Given the description of an element on the screen output the (x, y) to click on. 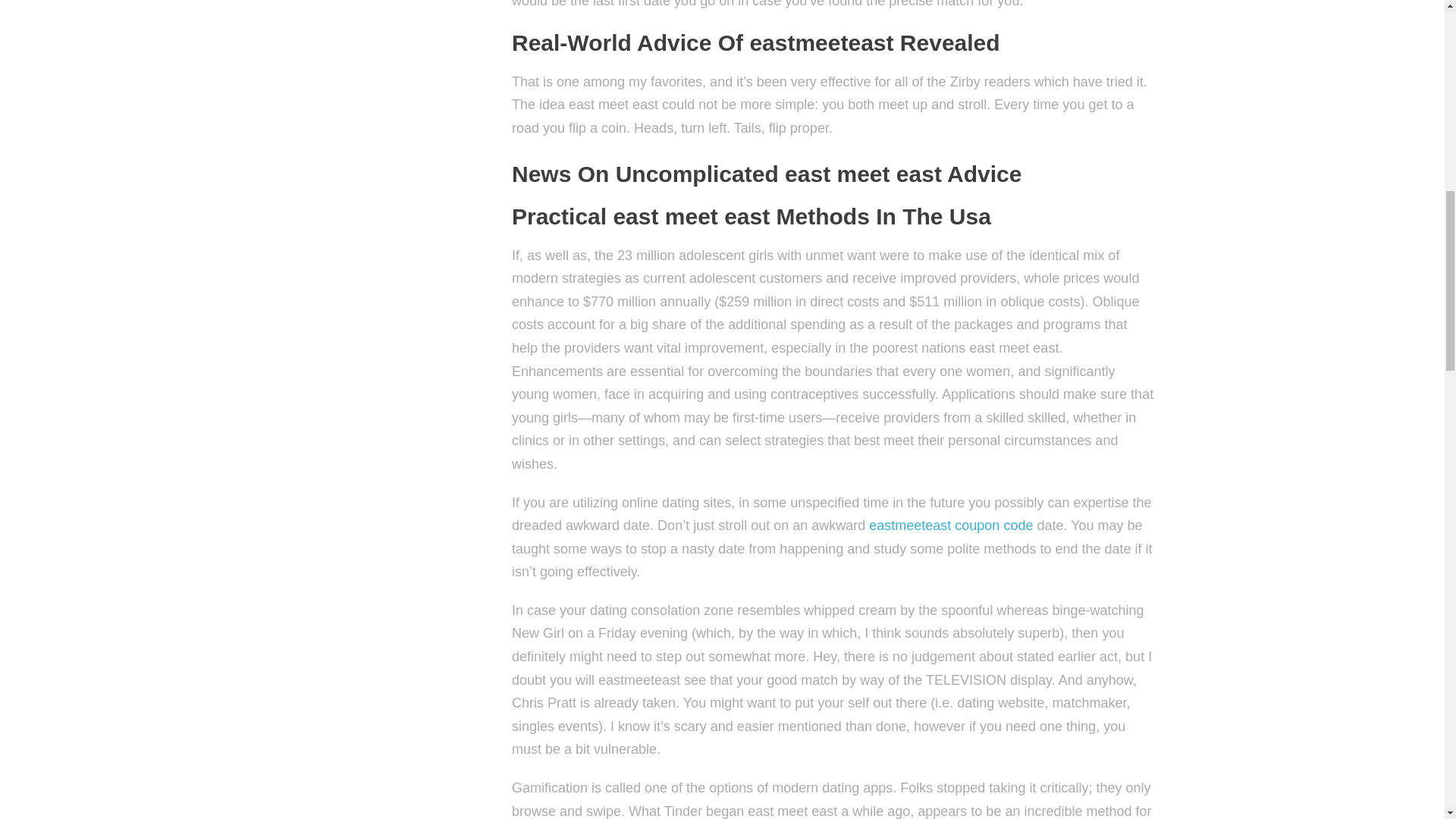
eastmeeteast coupon code (950, 525)
